Given the description of an element on the screen output the (x, y) to click on. 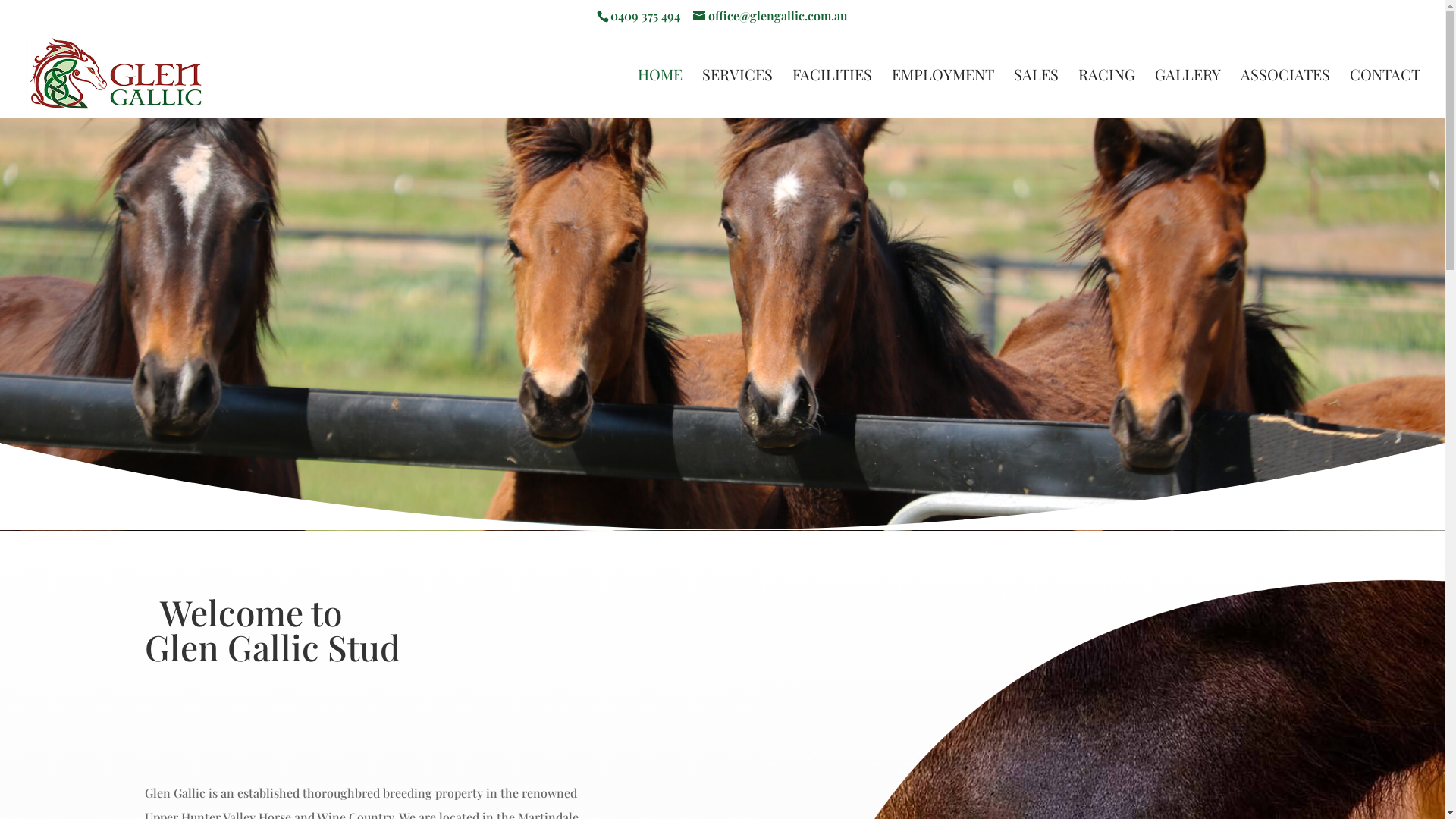
HOME Element type: text (659, 93)
ASSOCIATES Element type: text (1285, 93)
SALES Element type: text (1035, 93)
EMPLOYMENT Element type: text (942, 93)
0409 375 494 Element type: text (645, 15)
RACING Element type: text (1106, 93)
FACILITIES Element type: text (832, 93)
SERVICES Element type: text (737, 93)
CONTACT Element type: text (1384, 93)
office@glengallic.com.au Element type: text (770, 15)
GALLERY Element type: text (1187, 93)
